Given the description of an element on the screen output the (x, y) to click on. 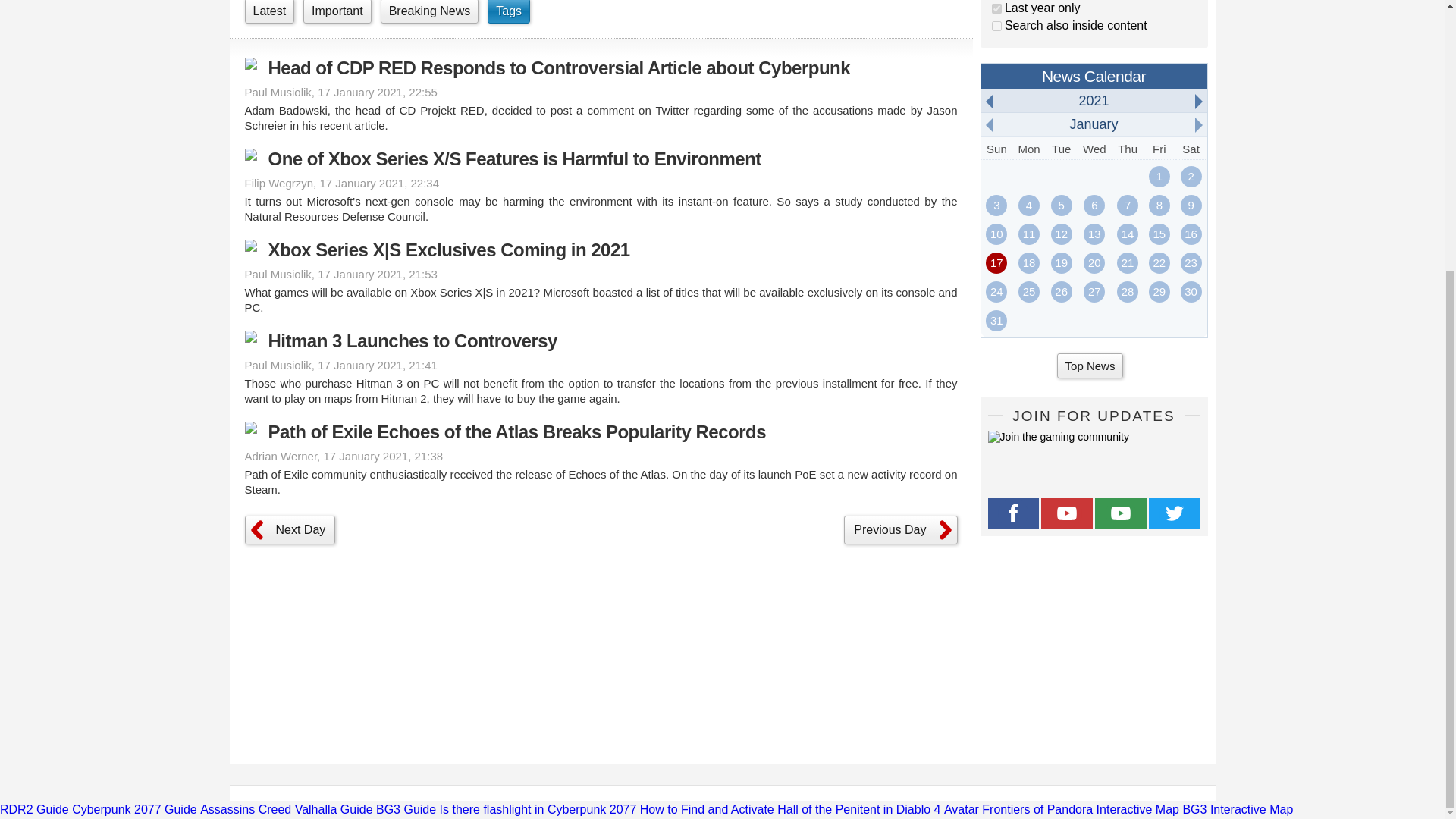
Tags (508, 11)
Path of Exile Echoes of the Atlas Breaks Popularity Records (600, 431)
Breaking News (429, 11)
Important (336, 11)
Next Day (289, 529)
Hitman 3 Launches to Controversy (600, 340)
1 (996, 8)
Previous Day (900, 529)
1 (996, 26)
